Given the description of an element on the screen output the (x, y) to click on. 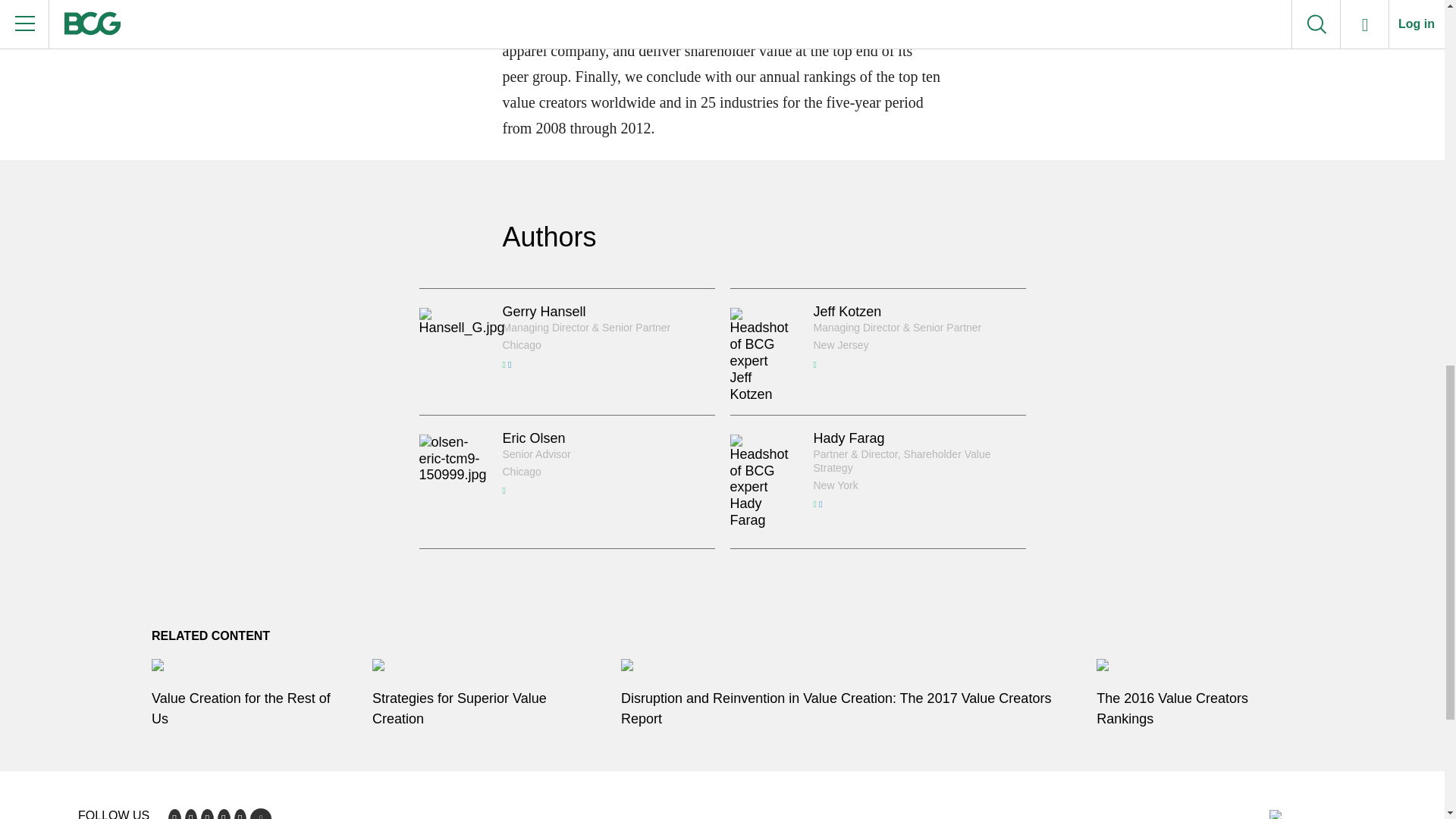
Gerry Hansell (543, 311)
Jeff Kotzen (846, 311)
Hady Farag (847, 437)
